Given the description of an element on the screen output the (x, y) to click on. 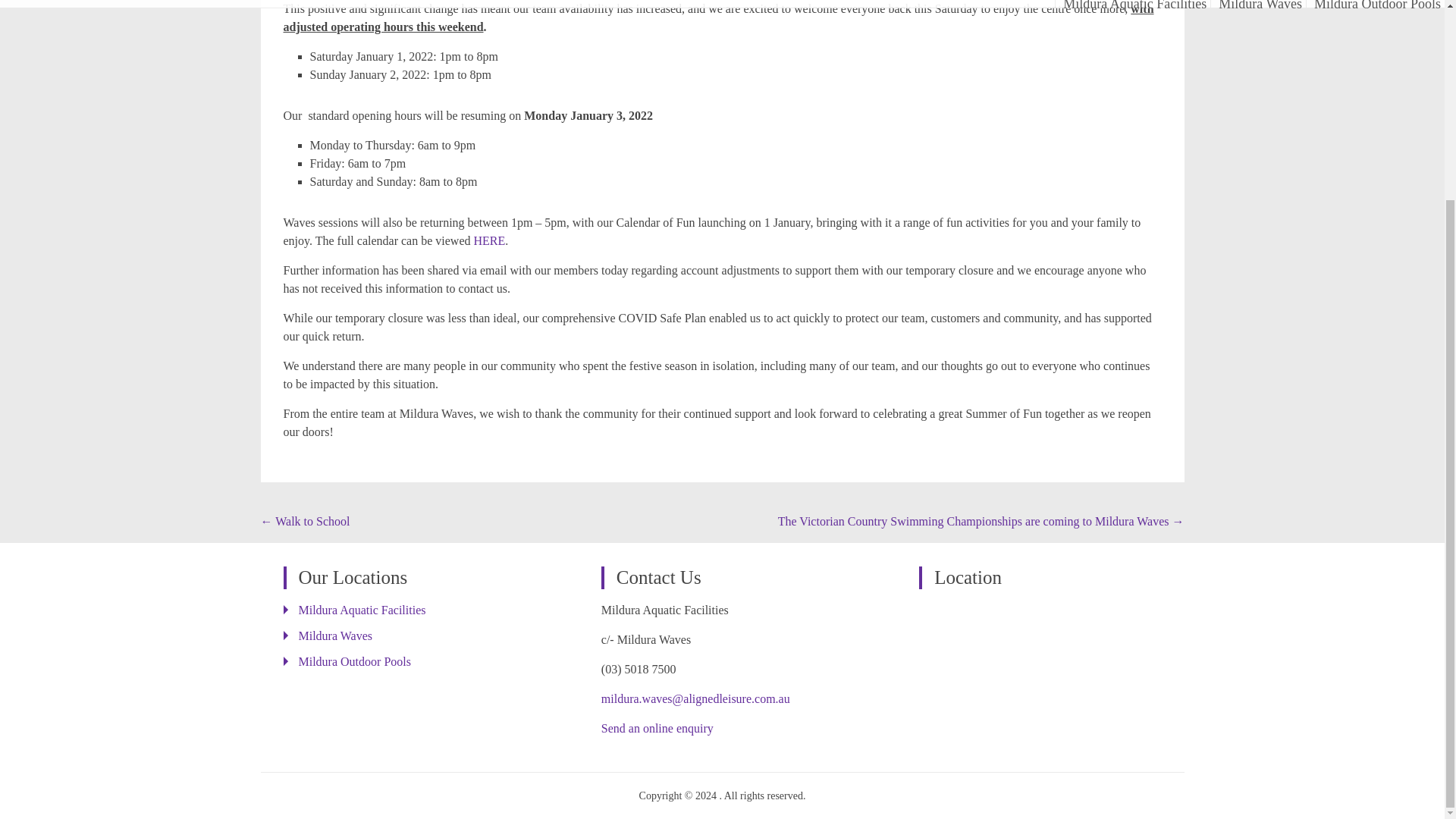
Mildura Aquatic Facilities (362, 609)
Mildura Waves (335, 635)
Send an online enquiry (657, 727)
Mildura Outdoor Pools (354, 661)
HERE (489, 240)
